Given the description of an element on the screen output the (x, y) to click on. 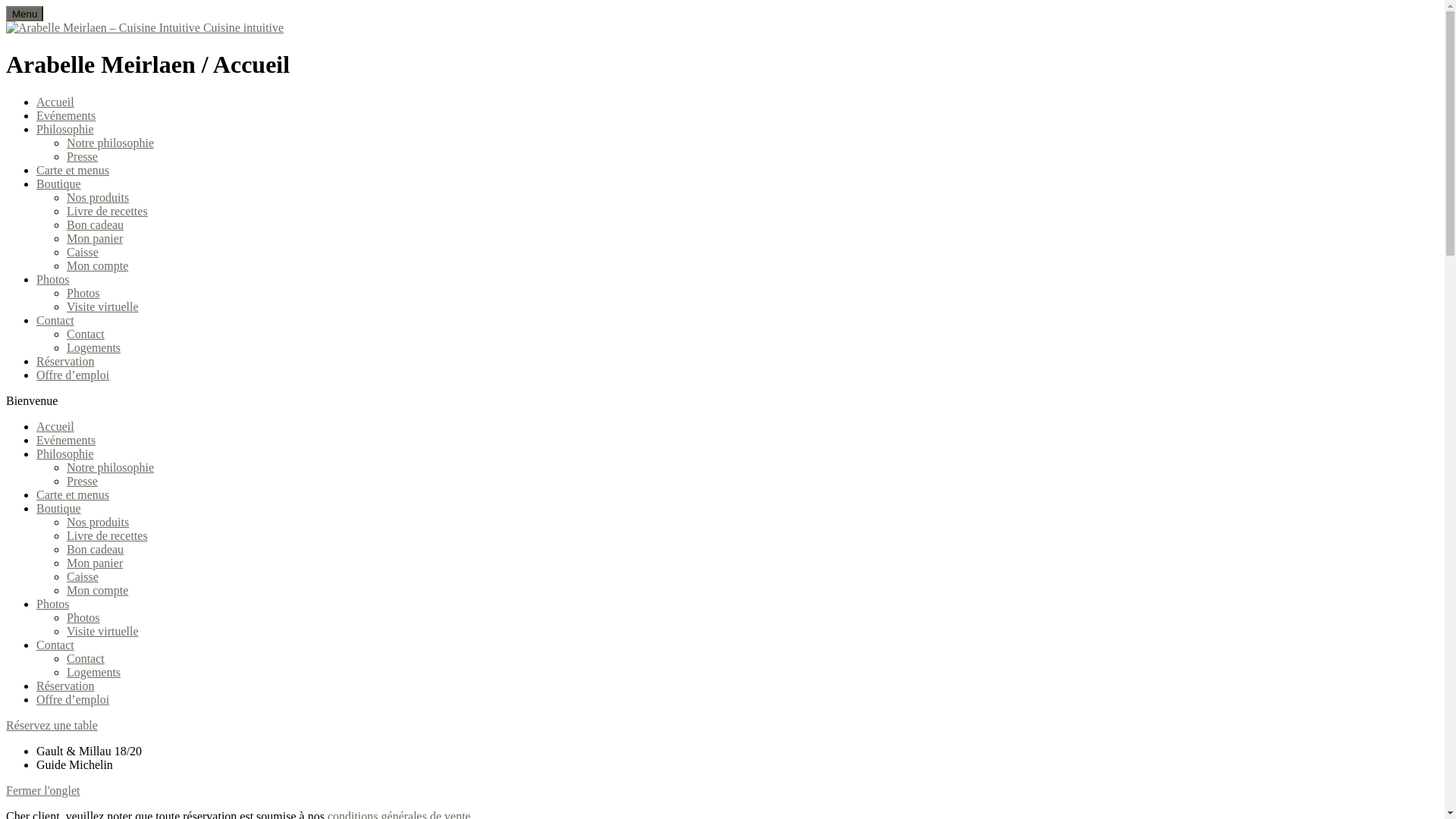
Menu Element type: text (24, 13)
Livre de recettes Element type: text (106, 535)
Logements Element type: text (93, 347)
Bon cadeau Element type: text (94, 224)
Notre philosophie Element type: text (109, 142)
Philosophie Element type: text (65, 453)
Carte et menus Element type: text (72, 494)
Livre de recettes Element type: text (106, 210)
Photos Element type: text (83, 617)
Photos Element type: text (83, 292)
Accueil Element type: text (55, 101)
Mon compte Element type: text (97, 265)
Photos Element type: text (52, 603)
Mon panier Element type: text (94, 562)
Mon panier Element type: text (94, 238)
Accueil Element type: text (55, 426)
Philosophie Element type: text (65, 128)
Contact Element type: text (55, 644)
Nos produits Element type: text (97, 521)
Photos Element type: text (52, 279)
Contact Element type: text (85, 658)
Presse Element type: text (81, 480)
Presse Element type: text (81, 156)
Carte et menus Element type: text (72, 169)
Notre philosophie Element type: text (109, 467)
Contact Element type: text (85, 333)
Mon compte Element type: text (97, 589)
Visite virtuelle Element type: text (102, 306)
Fermer l'onglet Element type: text (43, 790)
Caisse Element type: text (82, 251)
Caisse Element type: text (82, 576)
Nos produits Element type: text (97, 197)
Contact Element type: text (55, 319)
Bon cadeau Element type: text (94, 548)
Visite virtuelle Element type: text (102, 630)
Boutique Element type: text (58, 508)
Logements Element type: text (93, 671)
Boutique Element type: text (58, 183)
